Given the description of an element on the screen output the (x, y) to click on. 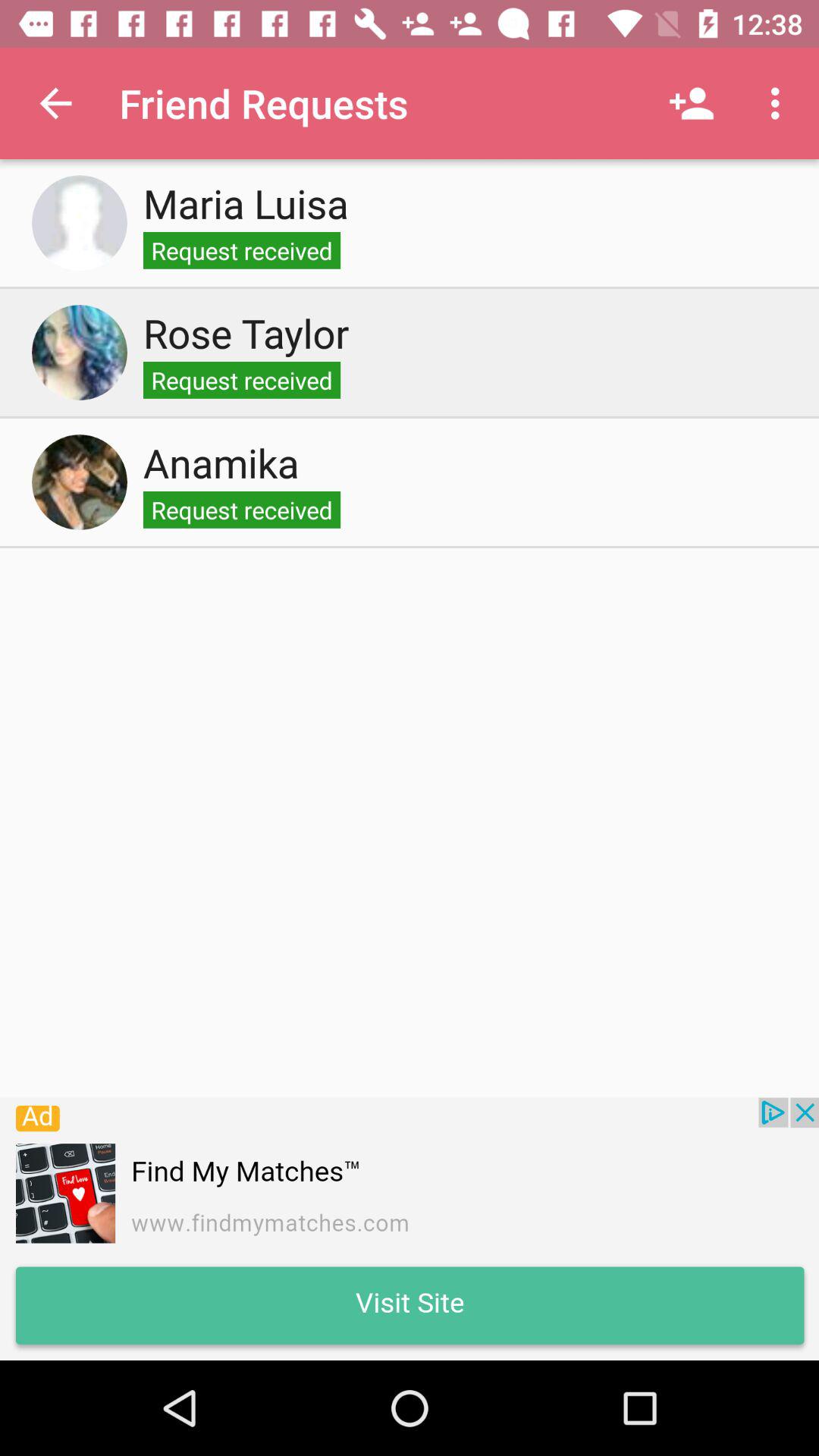
profile photo (79, 352)
